Given the description of an element on the screen output the (x, y) to click on. 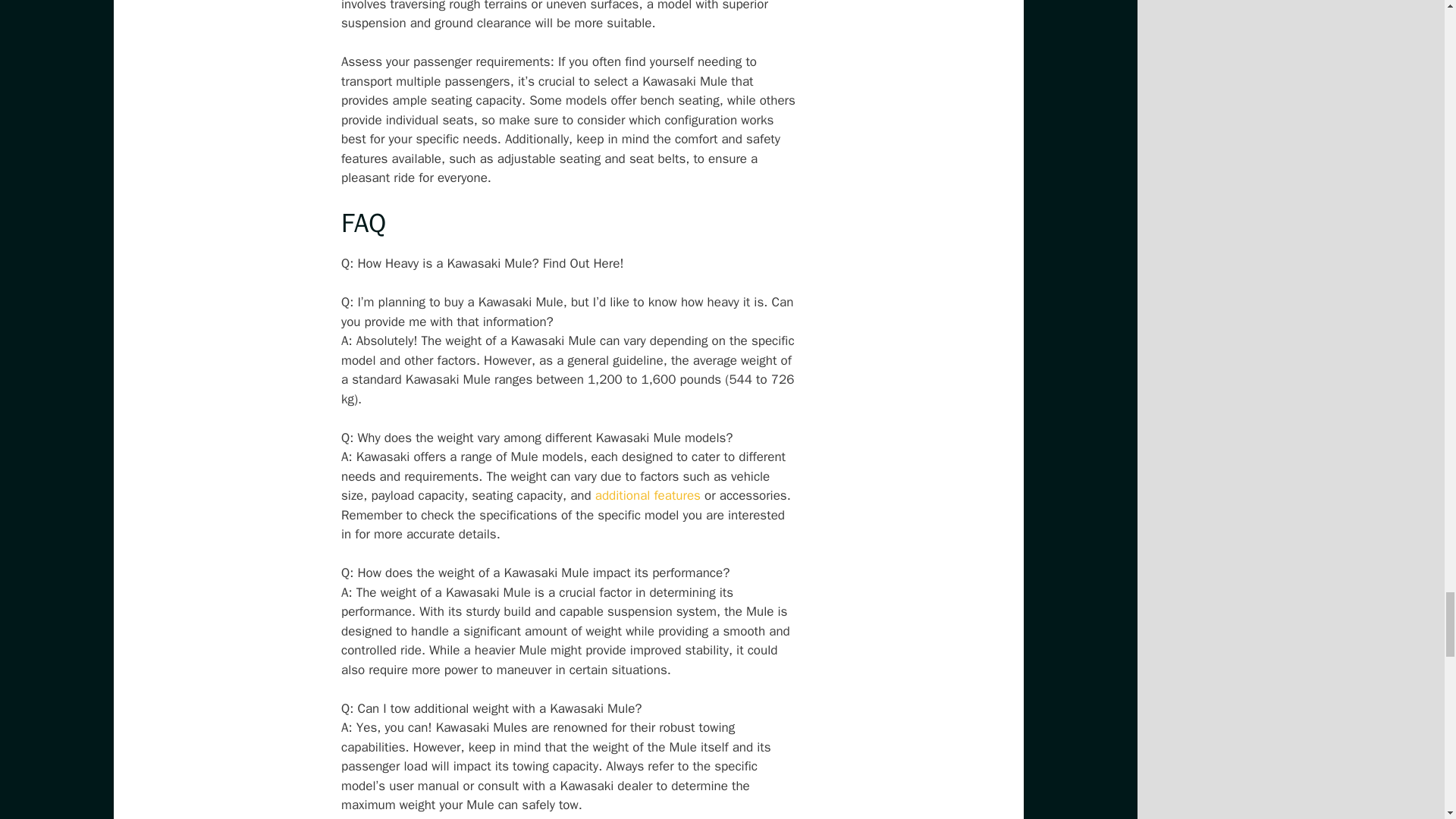
additional features (647, 495)
